Given the description of an element on the screen output the (x, y) to click on. 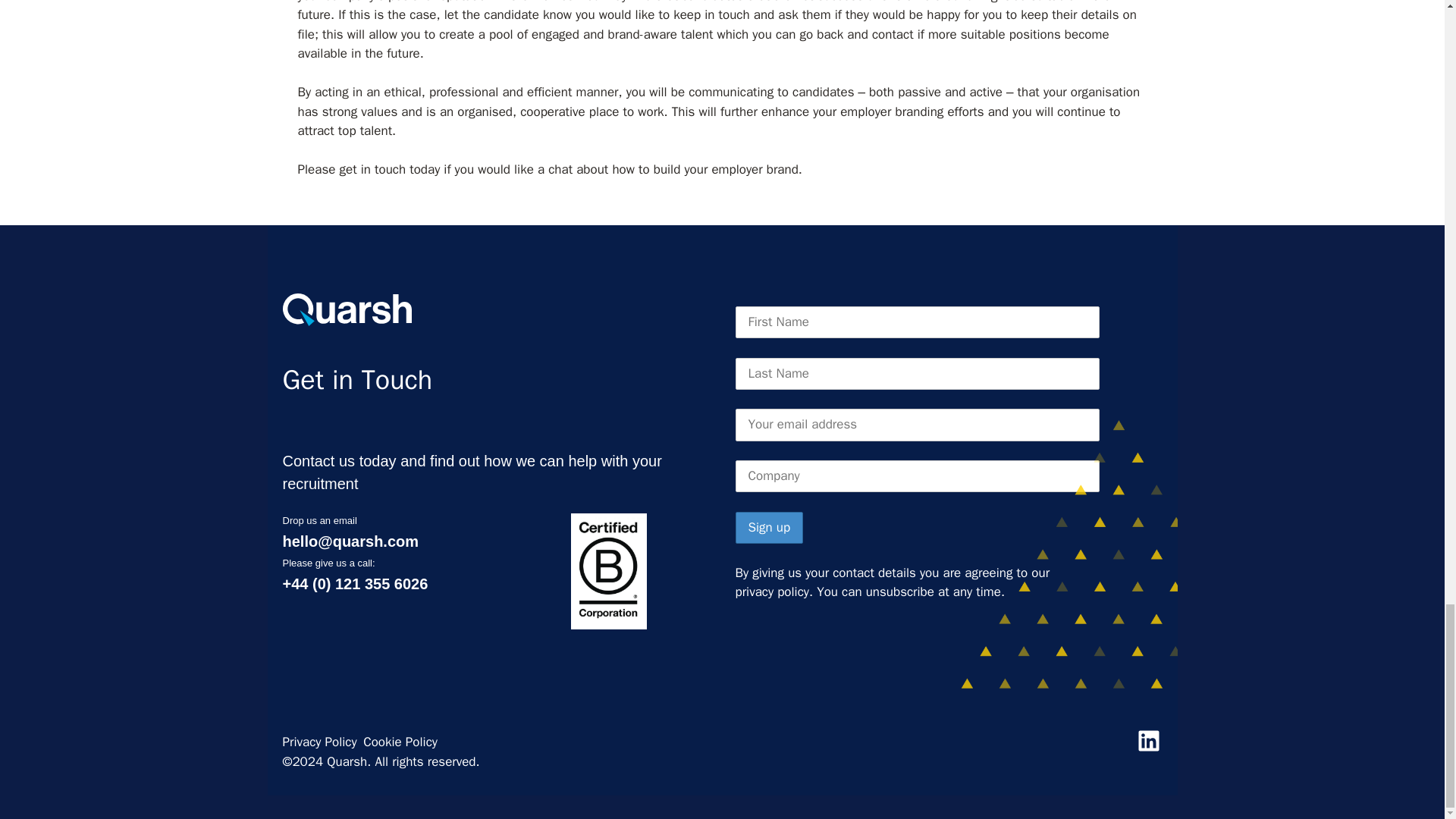
Privacy Policy (319, 742)
LinkedIn (1147, 740)
Cookie Policy (400, 742)
get in touch (372, 169)
Sign up (769, 527)
employer brand (754, 169)
Sign up (769, 527)
